Given the description of an element on the screen output the (x, y) to click on. 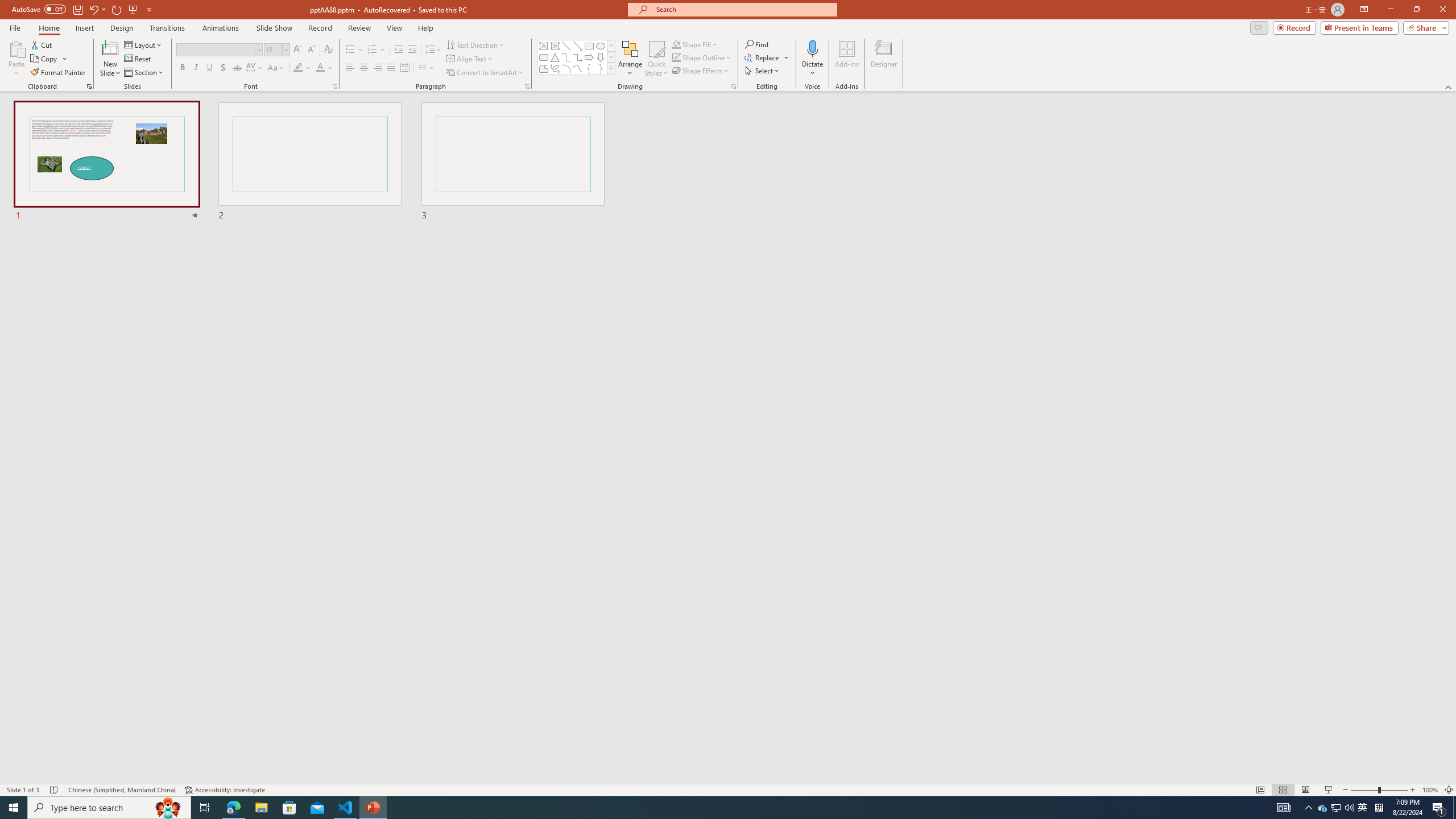
Connector: Elbow (566, 57)
Oval (600, 45)
Line Spacing (433, 49)
Increase Font Size (297, 49)
Freeform: Scribble (554, 68)
Shape Effects (700, 69)
Curve (577, 68)
Underline (209, 67)
Center (363, 67)
Quick Styles (656, 58)
